Given the description of an element on the screen output the (x, y) to click on. 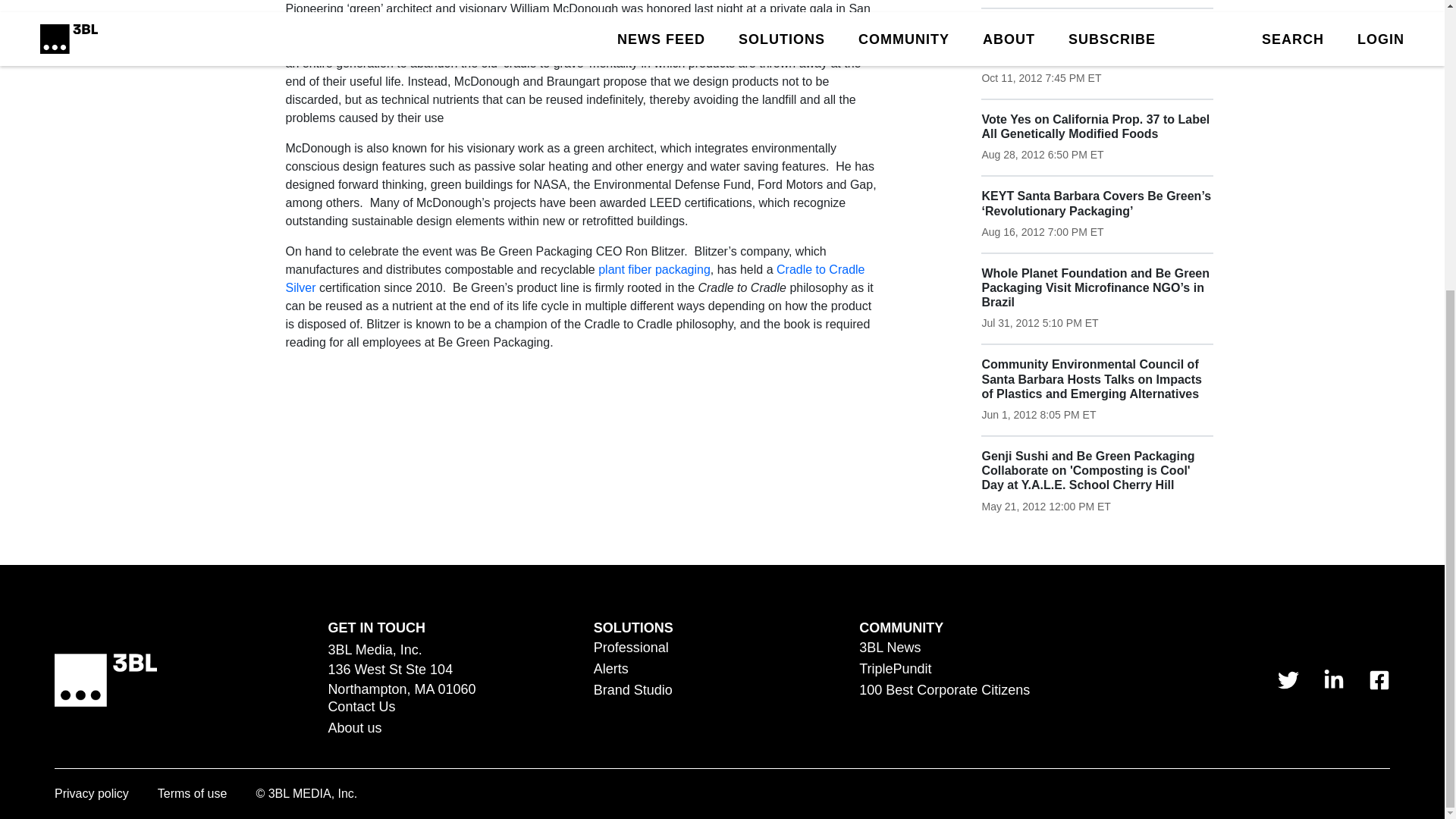
link to 3 B L Media's Facebook (1379, 680)
link to 3 B L Media's Linkedin (1333, 680)
link to 3 B L Media's Twitter (1288, 680)
